Given the description of an element on the screen output the (x, y) to click on. 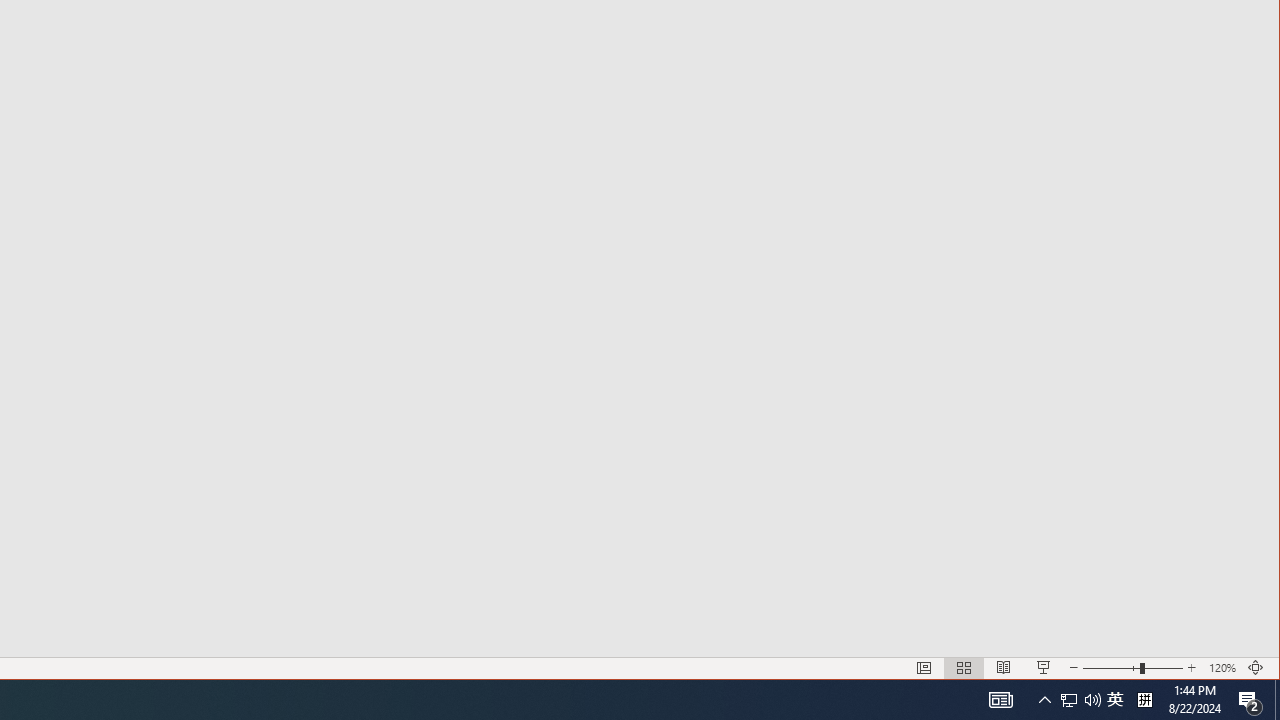
Zoom 120% (1222, 668)
